Given the description of an element on the screen output the (x, y) to click on. 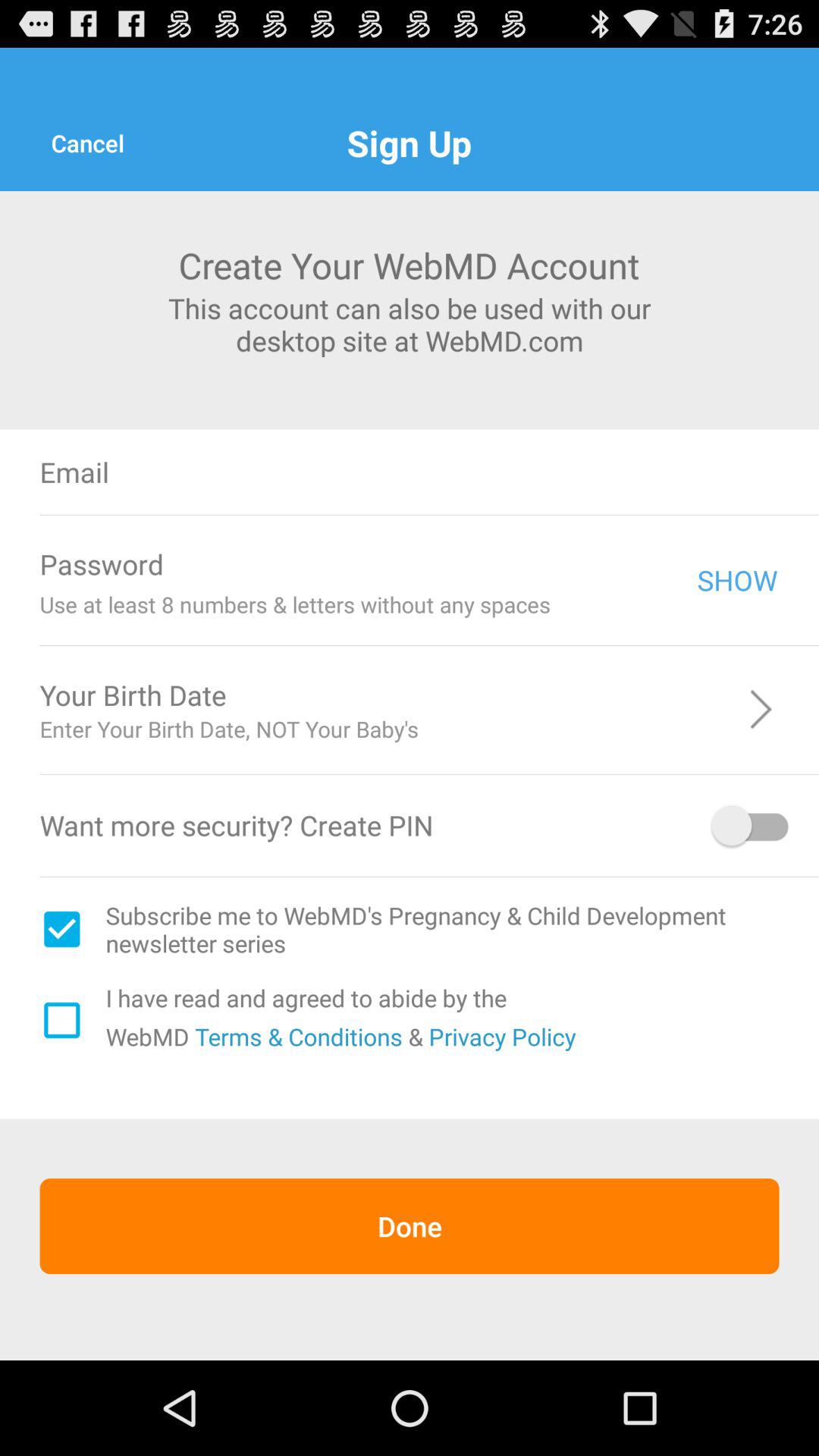
swipe to the done item (409, 1226)
